Given the description of an element on the screen output the (x, y) to click on. 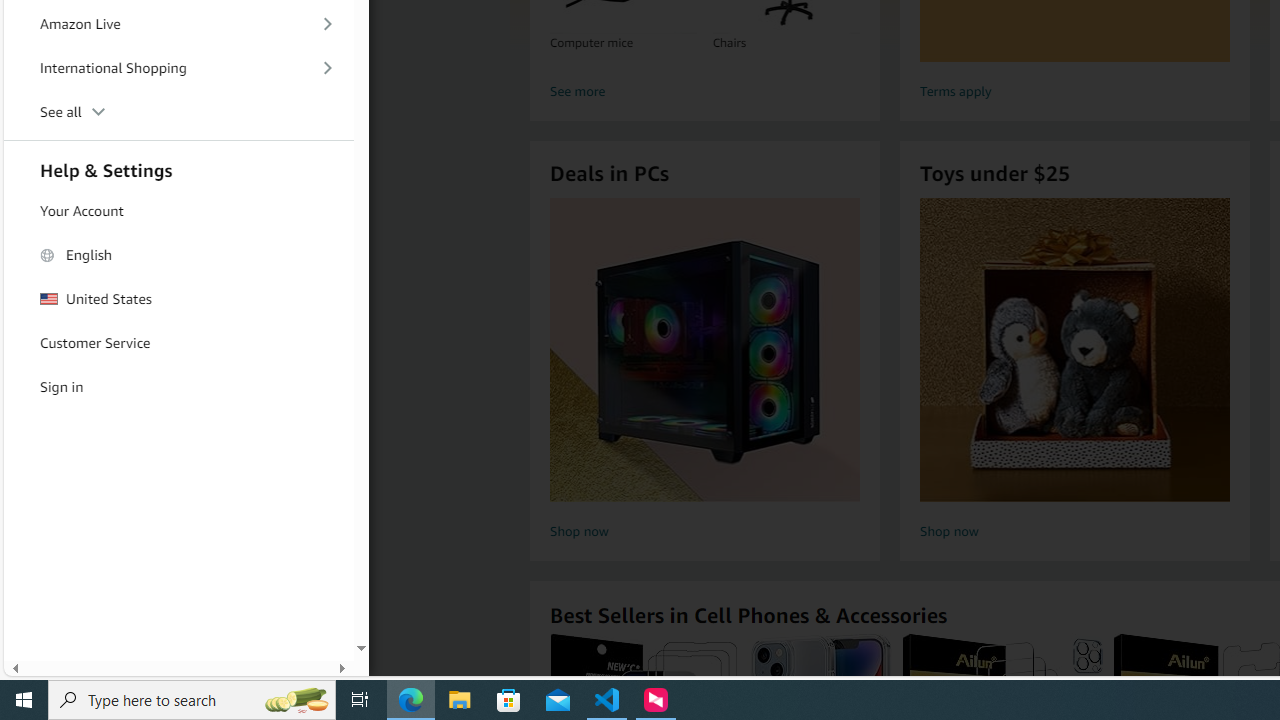
United States (178, 298)
Customer Service (178, 343)
